Given the description of an element on the screen output the (x, y) to click on. 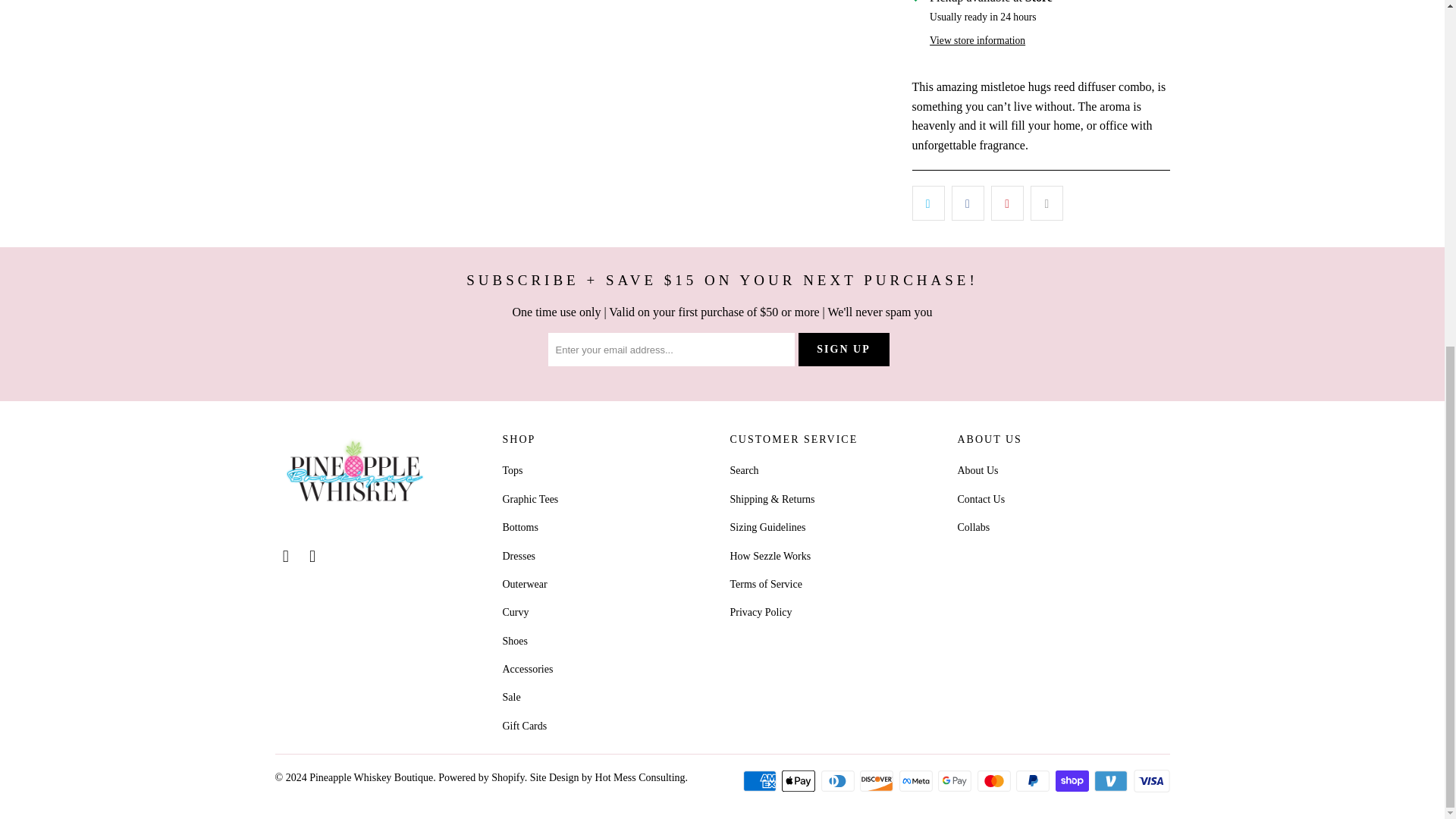
Visa (1150, 780)
Email this to a friend (1046, 202)
Meta Pay (917, 780)
Diners Club (839, 780)
PayPal (1034, 780)
Apple Pay (799, 780)
Google Pay (955, 780)
American Express (760, 780)
Pineapple Whiskey Boutique on Instagram (312, 556)
Share this on Facebook (968, 202)
